Given the description of an element on the screen output the (x, y) to click on. 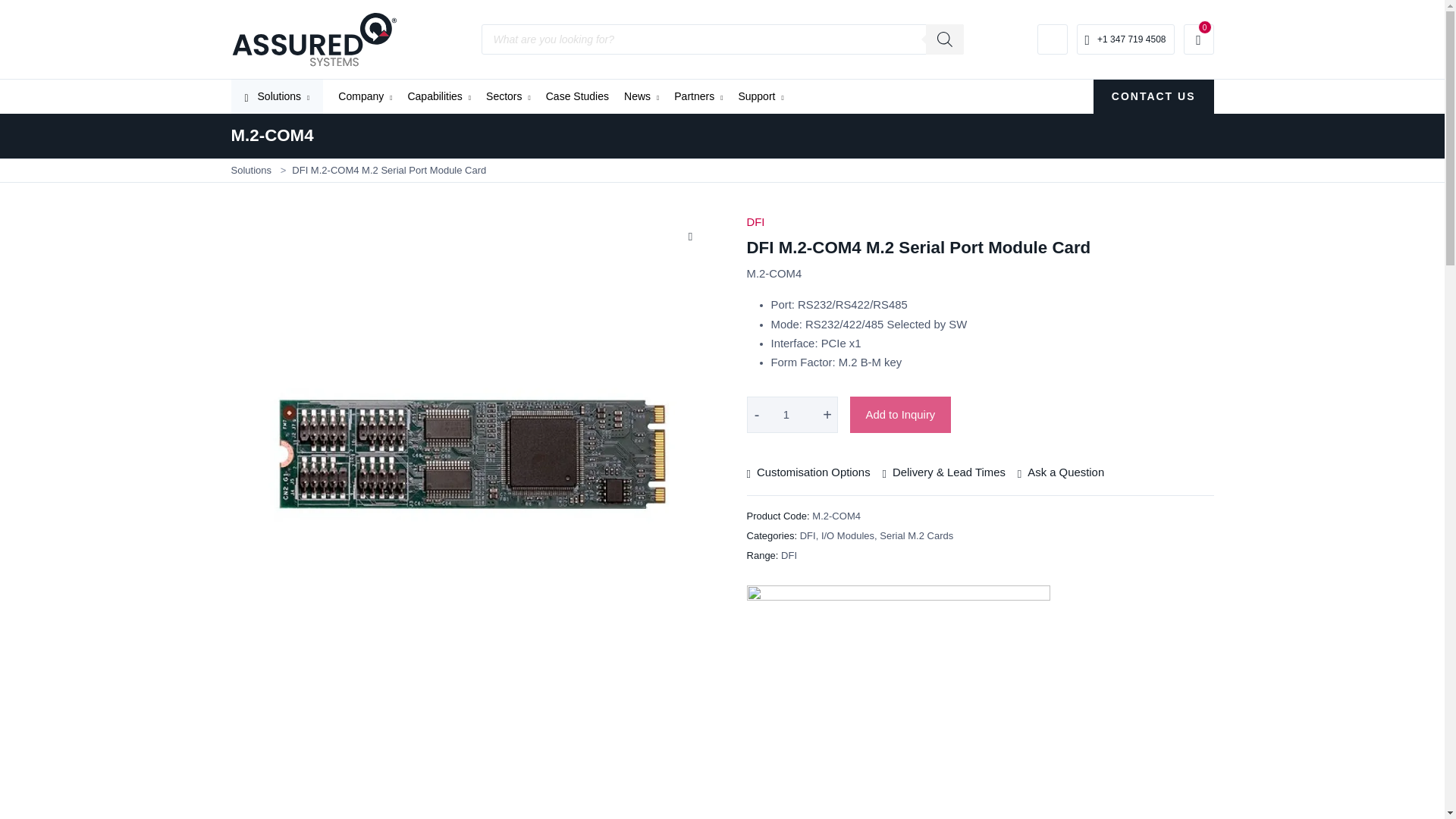
Solutions (276, 96)
Location (1051, 39)
Contact (1125, 39)
Assured Systems (313, 37)
1 (791, 414)
Qty (791, 414)
Zoom (689, 235)
